Given the description of an element on the screen output the (x, y) to click on. 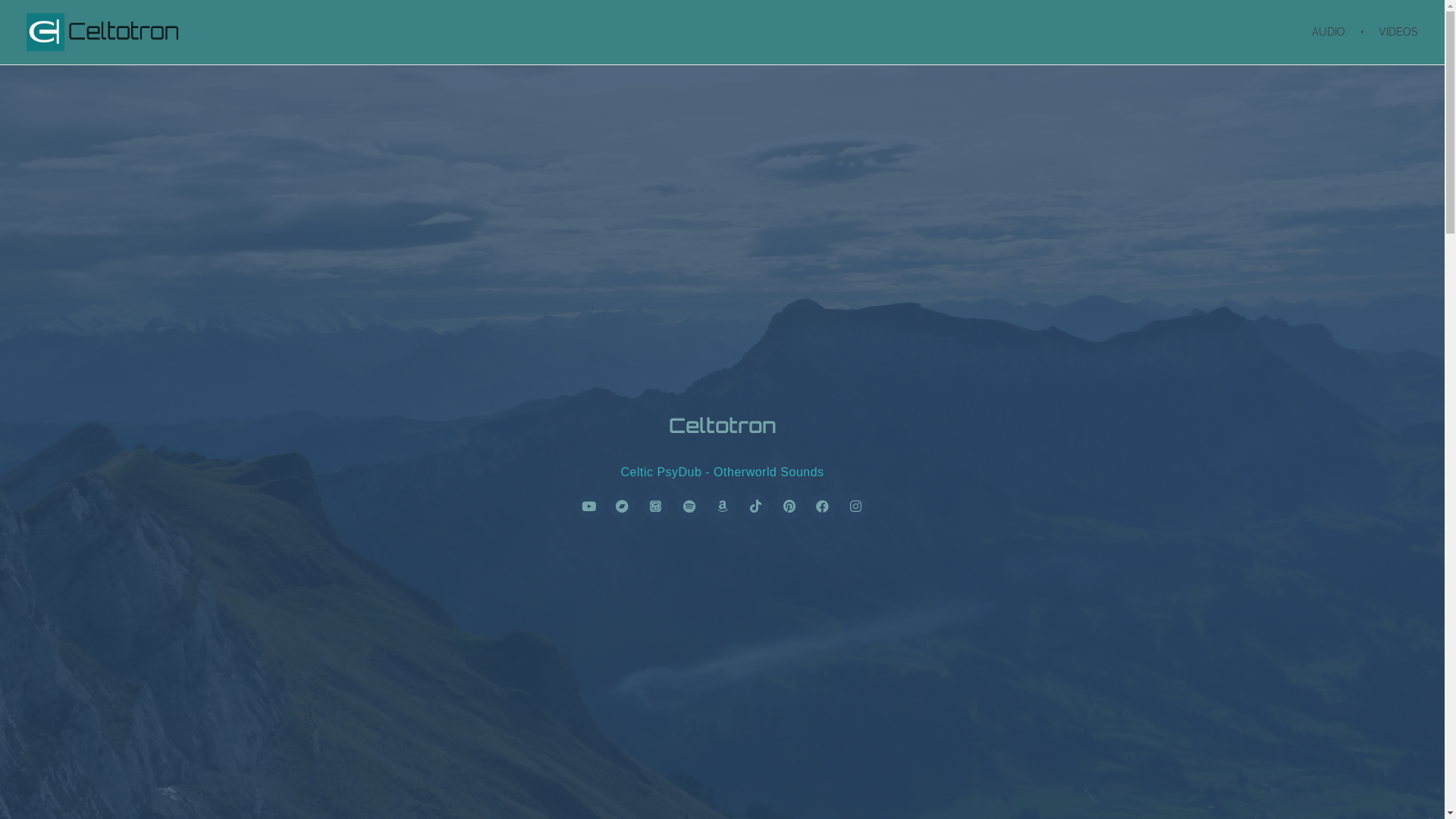
AUDIO Element type: text (1337, 32)
VIDEOS Element type: text (1391, 32)
